Given the description of an element on the screen output the (x, y) to click on. 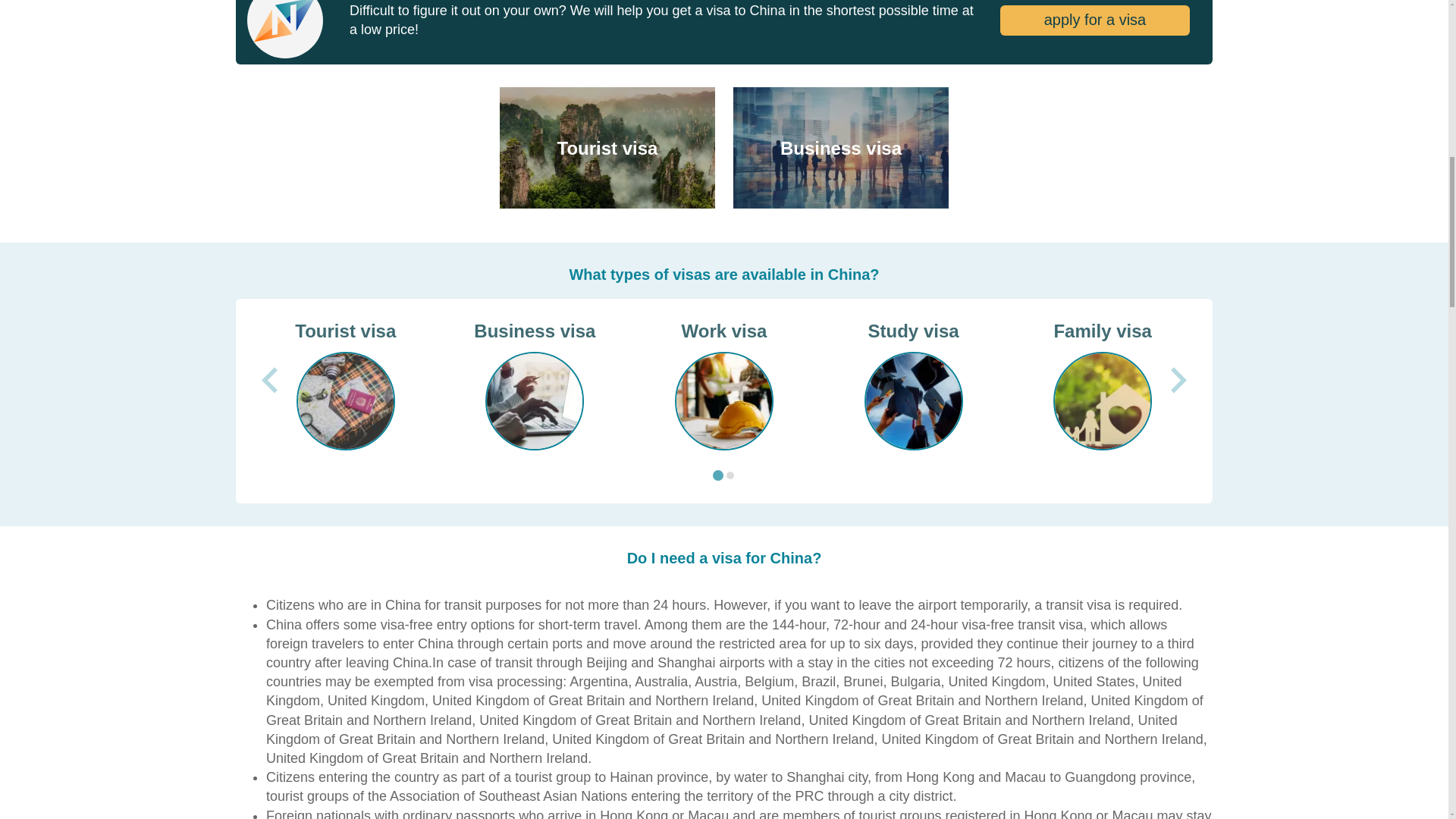
apply for a visa (1094, 20)
Zhangjiajie, China (606, 147)
Business visa for China (841, 147)
